Given the description of an element on the screen output the (x, y) to click on. 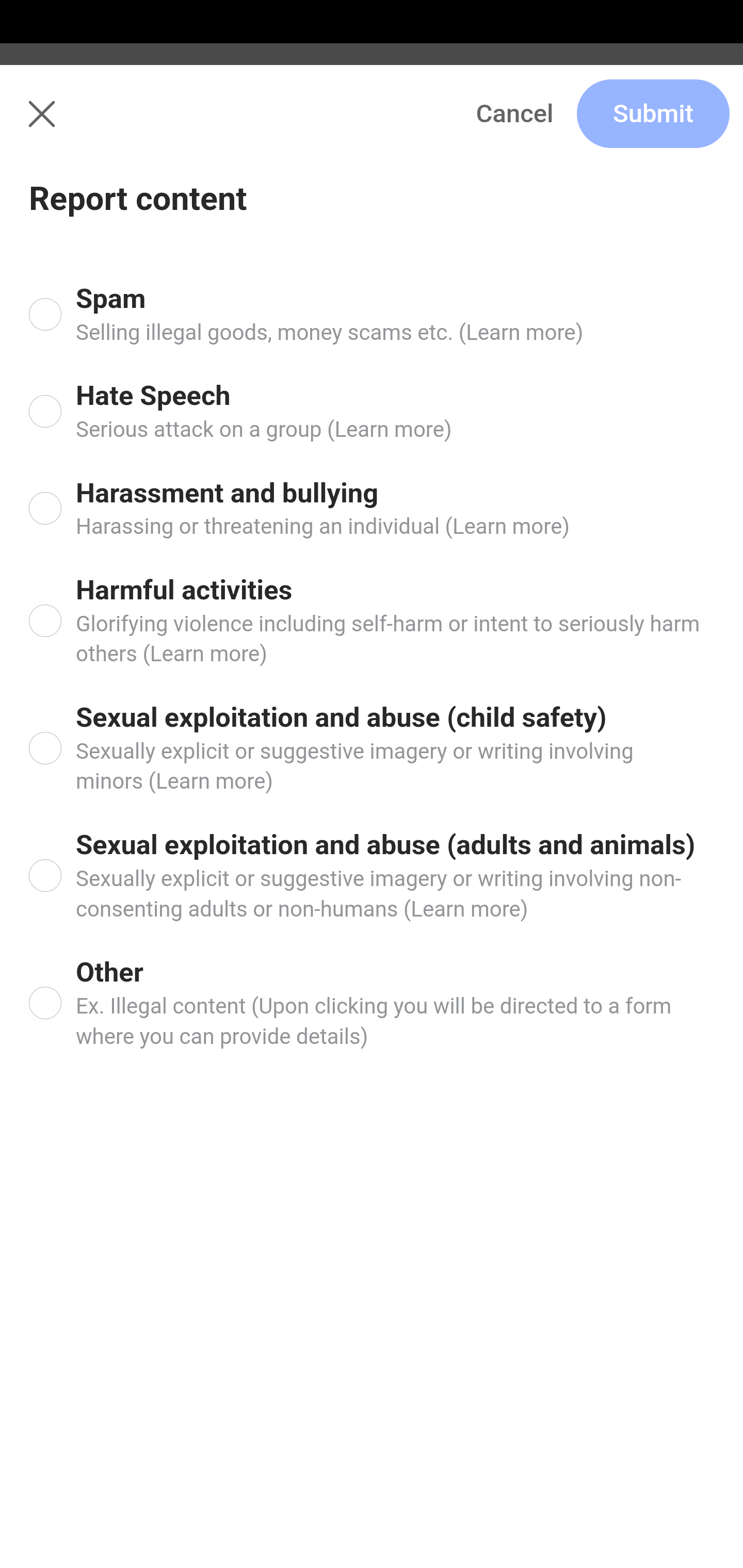
Me (64, 125)
